Given the description of an element on the screen output the (x, y) to click on. 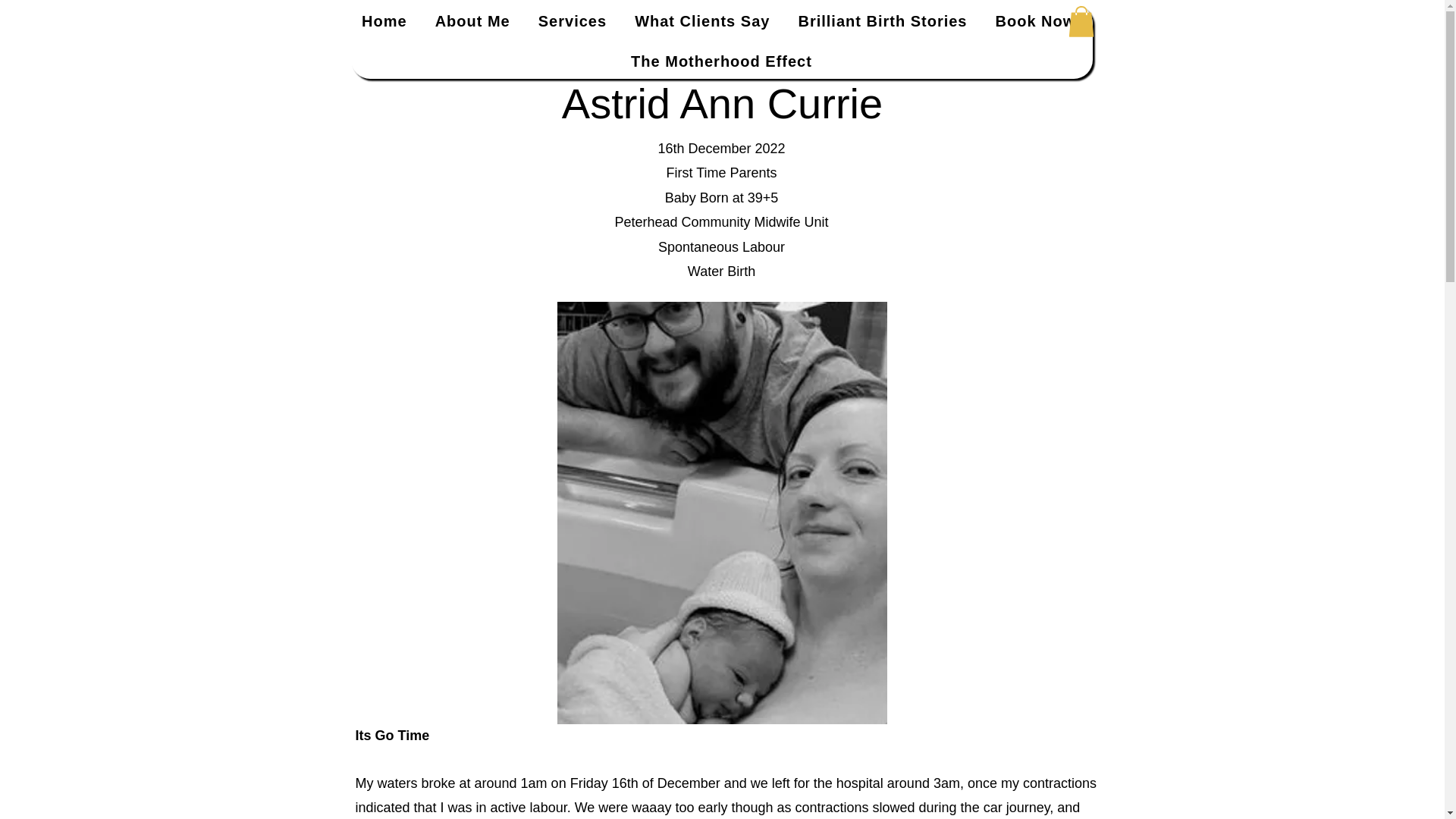
The Motherhood Effect (721, 61)
Services (572, 21)
What Clients Say (702, 21)
Book Now! (1038, 21)
About Me (472, 21)
Home (383, 21)
Brilliant Birth Stories (882, 21)
